Given the description of an element on the screen output the (x, y) to click on. 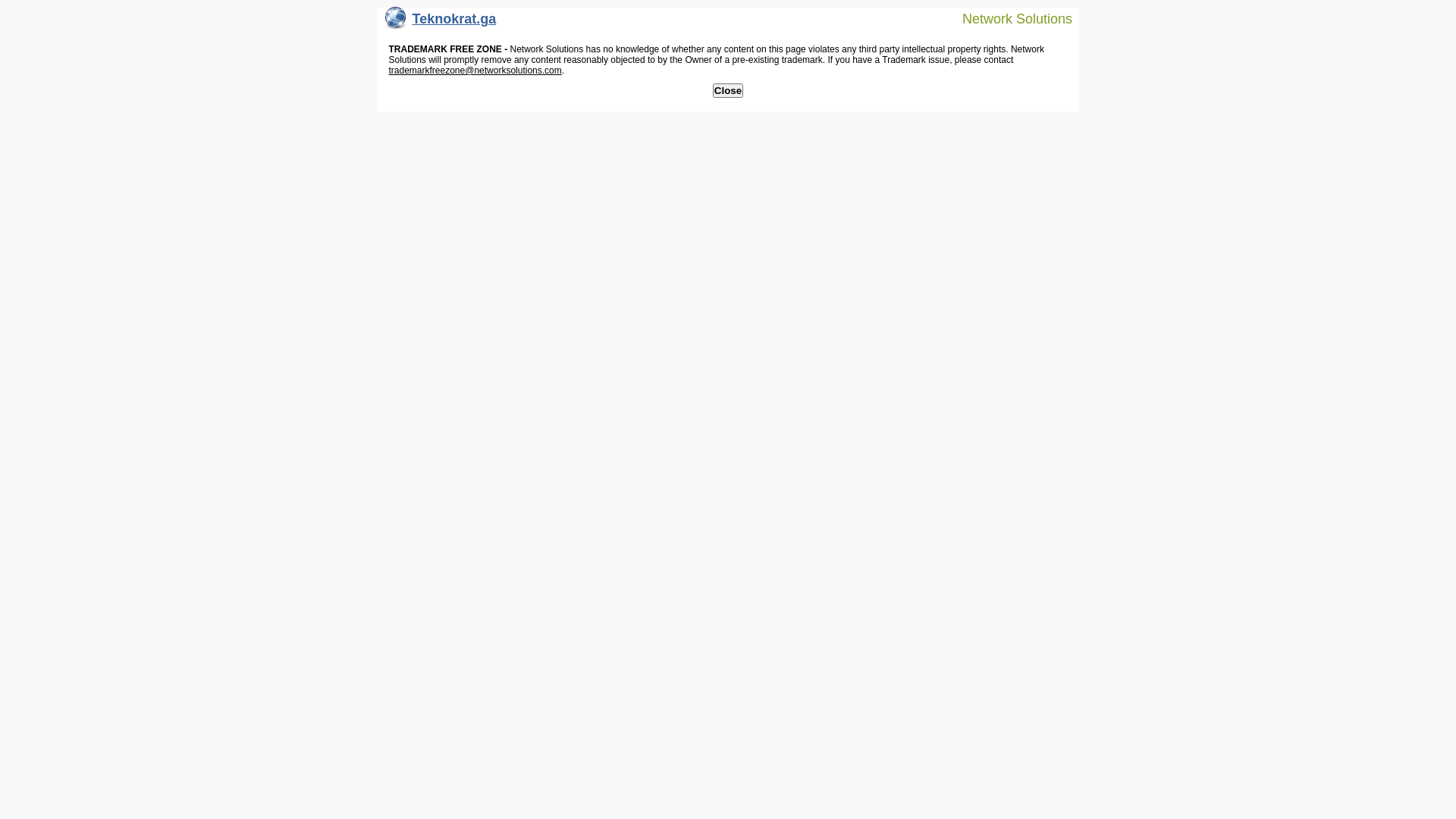
trademarkfreezone@networksolutions.com Element type: text (474, 70)
Network Solutions Element type: text (1007, 17)
Close Element type: text (727, 90)
Teknokrat.ga Element type: text (440, 21)
